Given the description of an element on the screen output the (x, y) to click on. 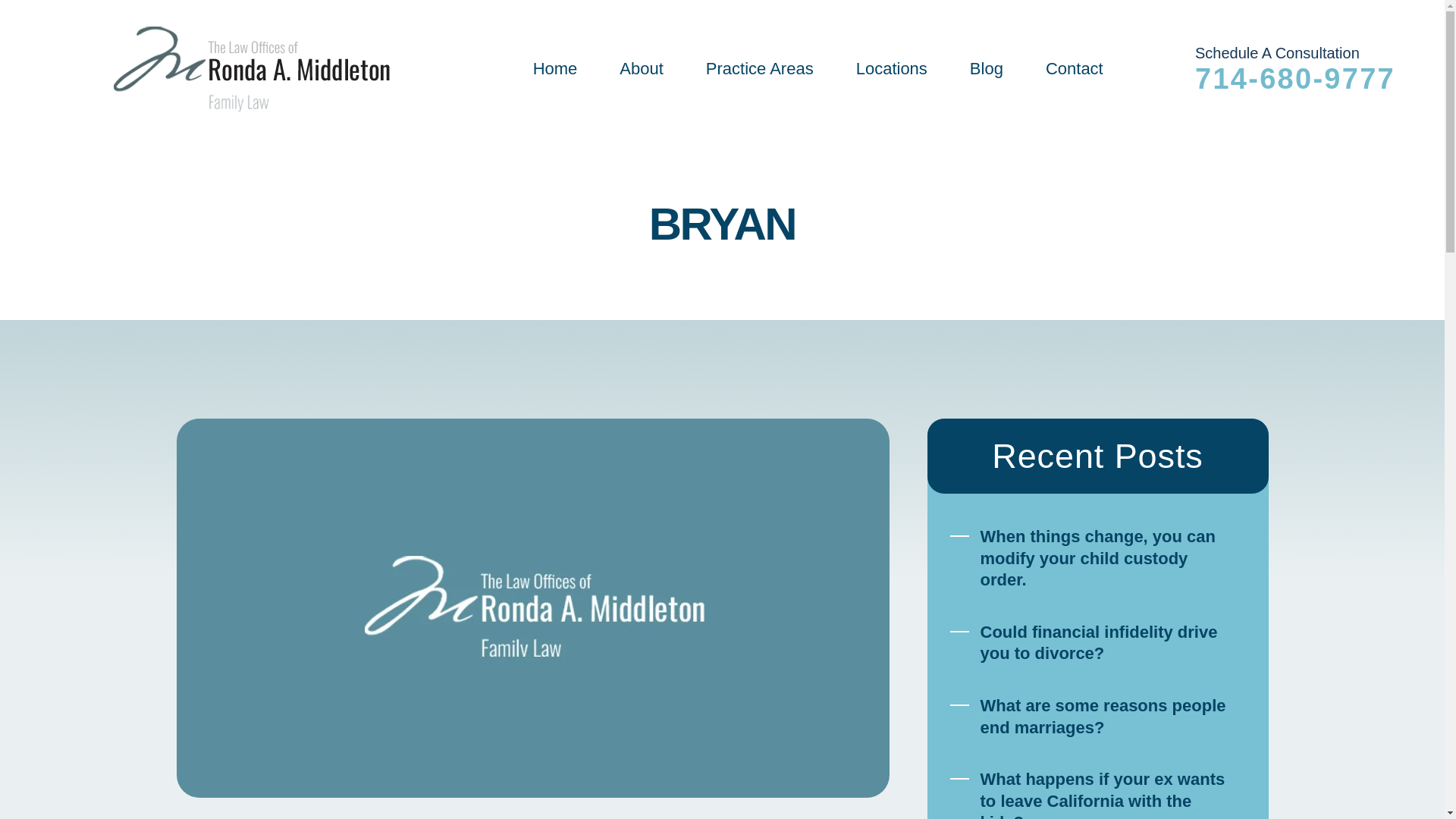
Home (555, 68)
Practice Areas (759, 68)
Contact (1074, 68)
Locations (891, 68)
714-680-9777 (1294, 77)
About (641, 68)
Blog (986, 68)
